Given the description of an element on the screen output the (x, y) to click on. 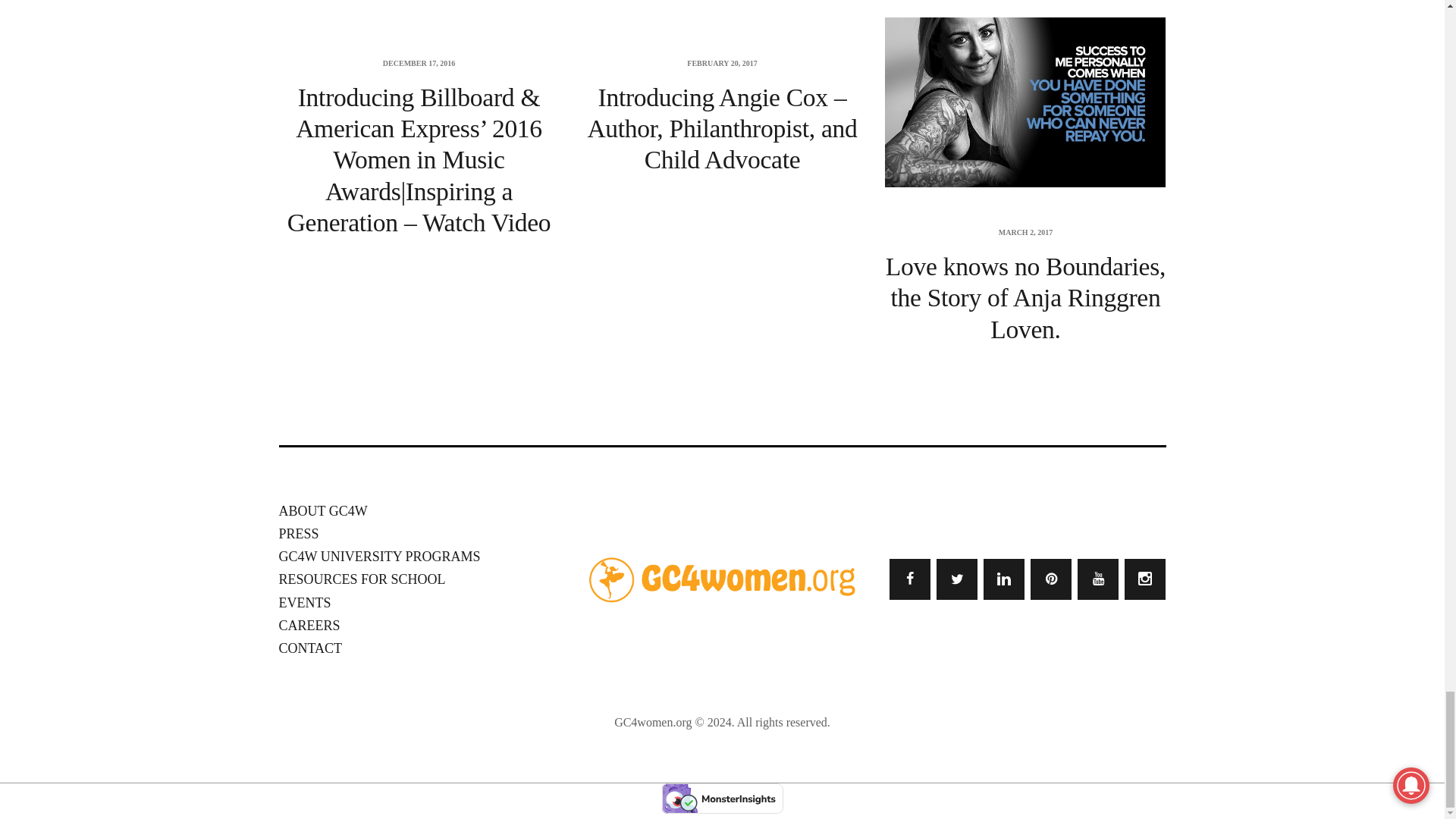
Verified by MonsterInsights (722, 798)
